Given the description of an element on the screen output the (x, y) to click on. 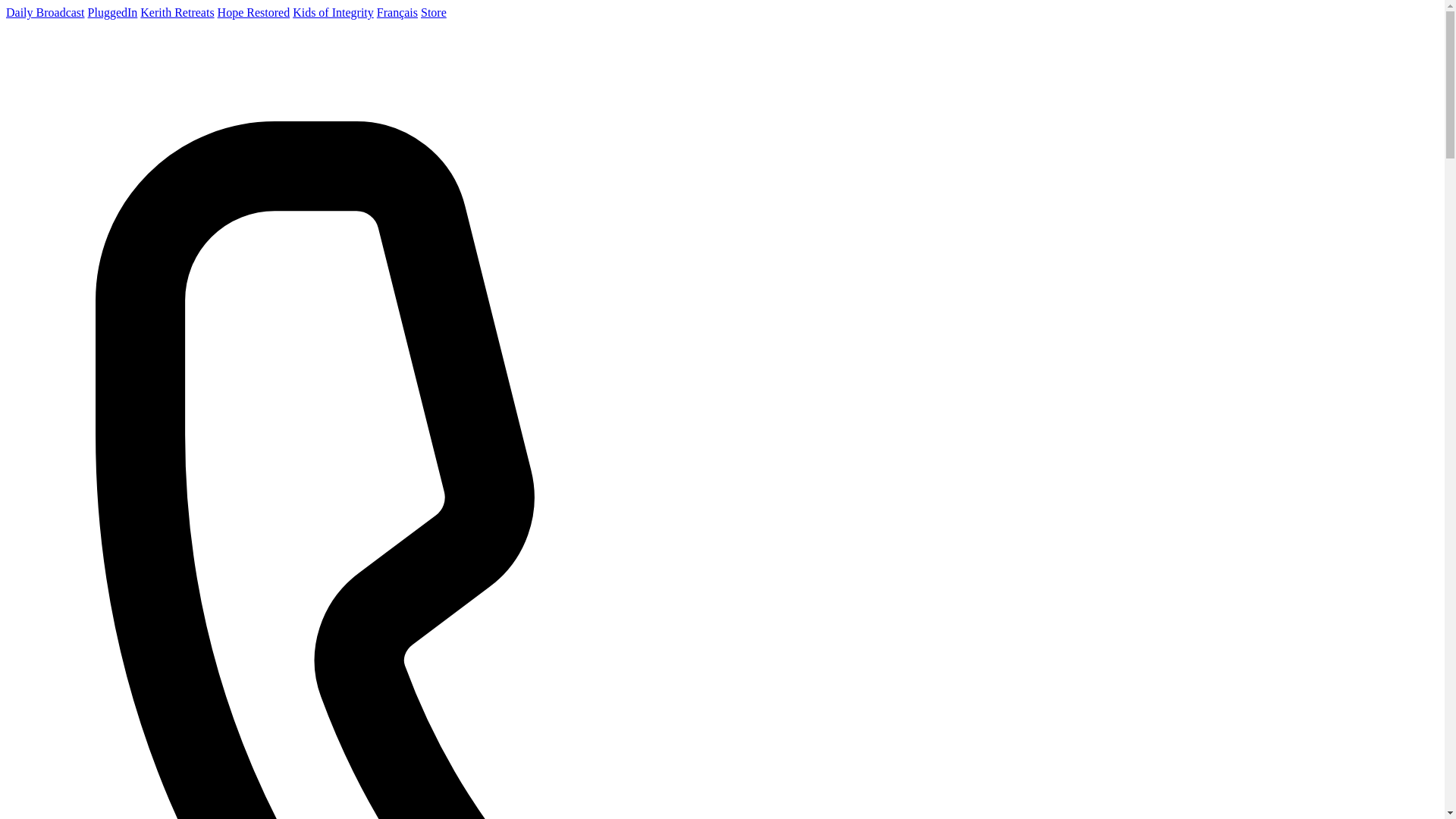
Daily Broadcast (44, 11)
PluggedIn (112, 11)
Kerith Retreats (176, 11)
Store (433, 11)
Hope Restored (252, 11)
Kids of Integrity (333, 11)
